Given the description of an element on the screen output the (x, y) to click on. 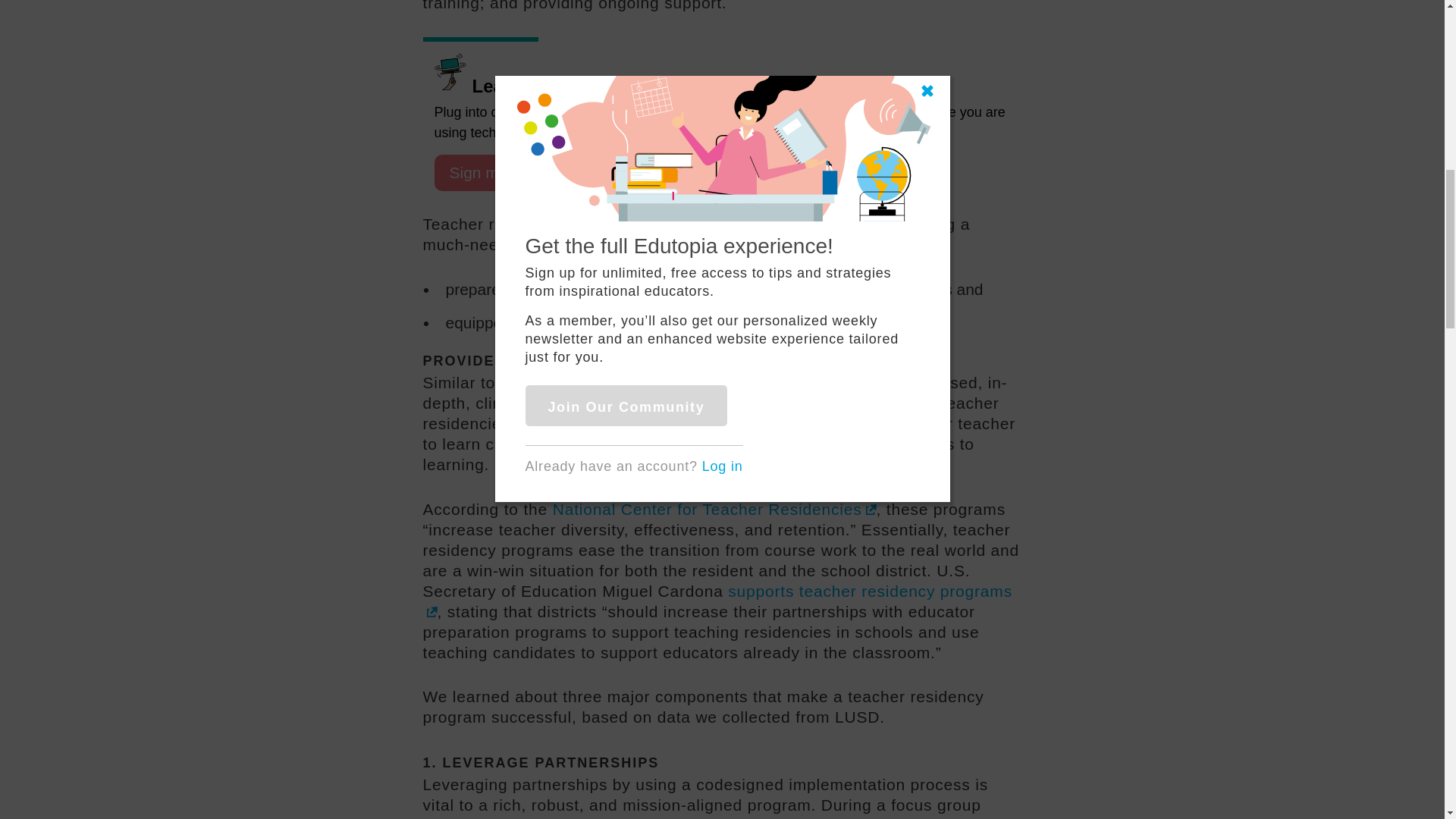
National Center for Teacher Residencies (714, 508)
supports teacher residency programs (717, 600)
Sign me up! (490, 172)
